Given the description of an element on the screen output the (x, y) to click on. 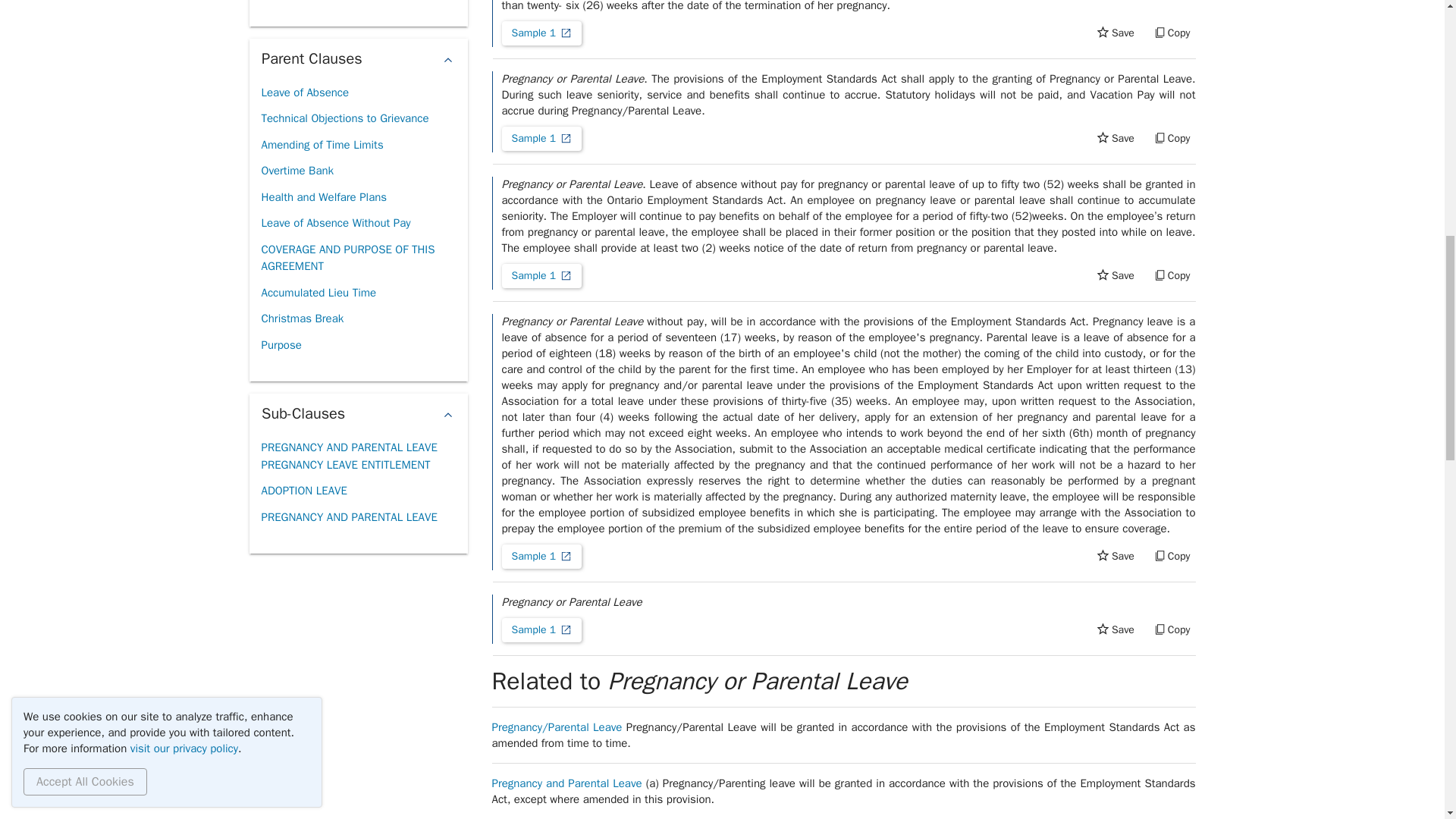
Technical Objections to Grievance (344, 118)
Health and Welfare Plans (323, 197)
Overtime Bank (296, 171)
COVERAGE AND PURPOSE OF THIS AGREEMENT (357, 258)
Parental Leave of Absence (326, 1)
Leave of Absence (304, 92)
Leave of Absence Without Pay (335, 222)
Amending of Time Limits (321, 144)
